Given the description of an element on the screen output the (x, y) to click on. 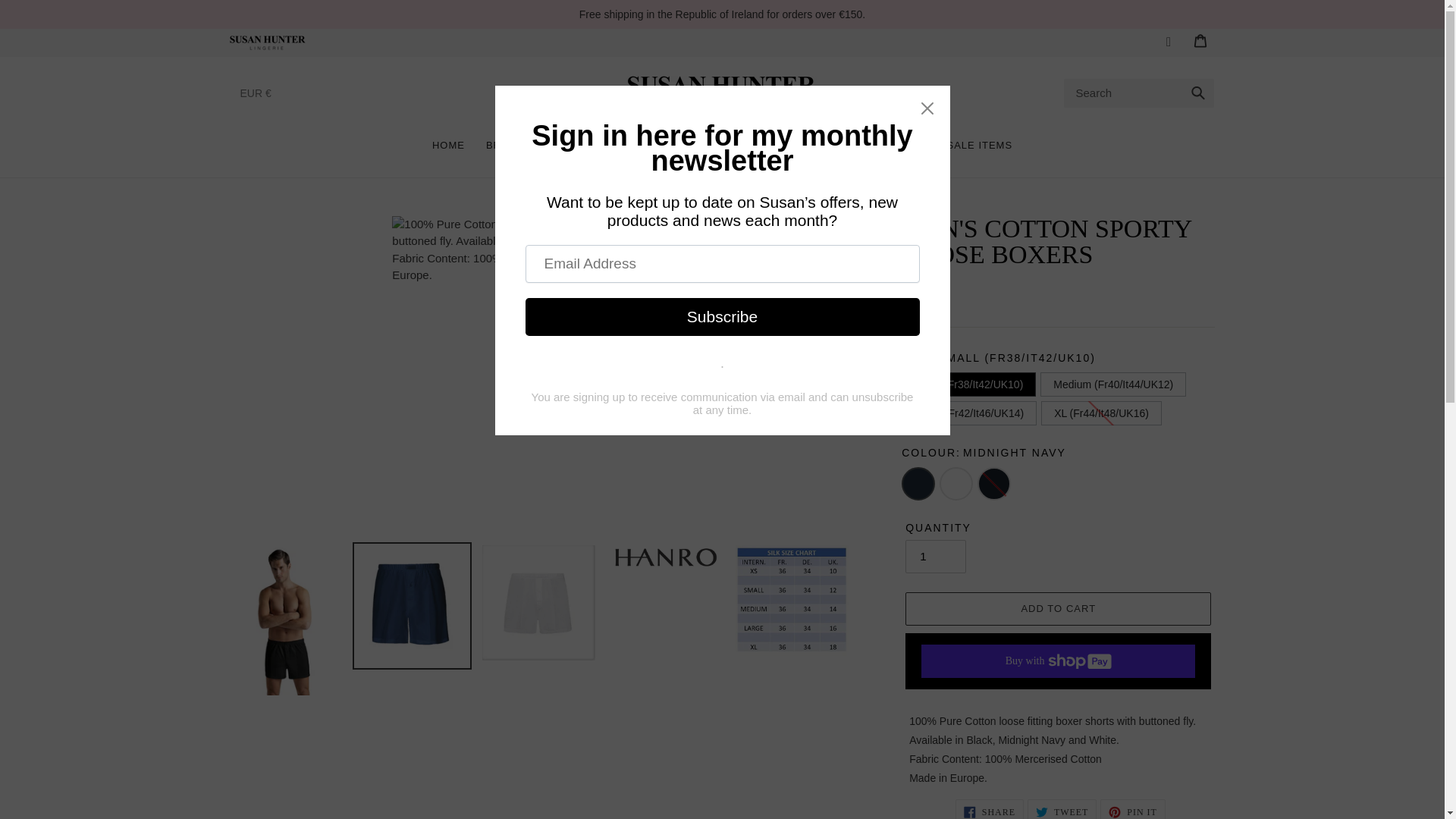
HOME (449, 143)
1 (935, 556)
BRAS (500, 143)
Cart (1199, 39)
Submit (1198, 92)
